Given the description of an element on the screen output the (x, y) to click on. 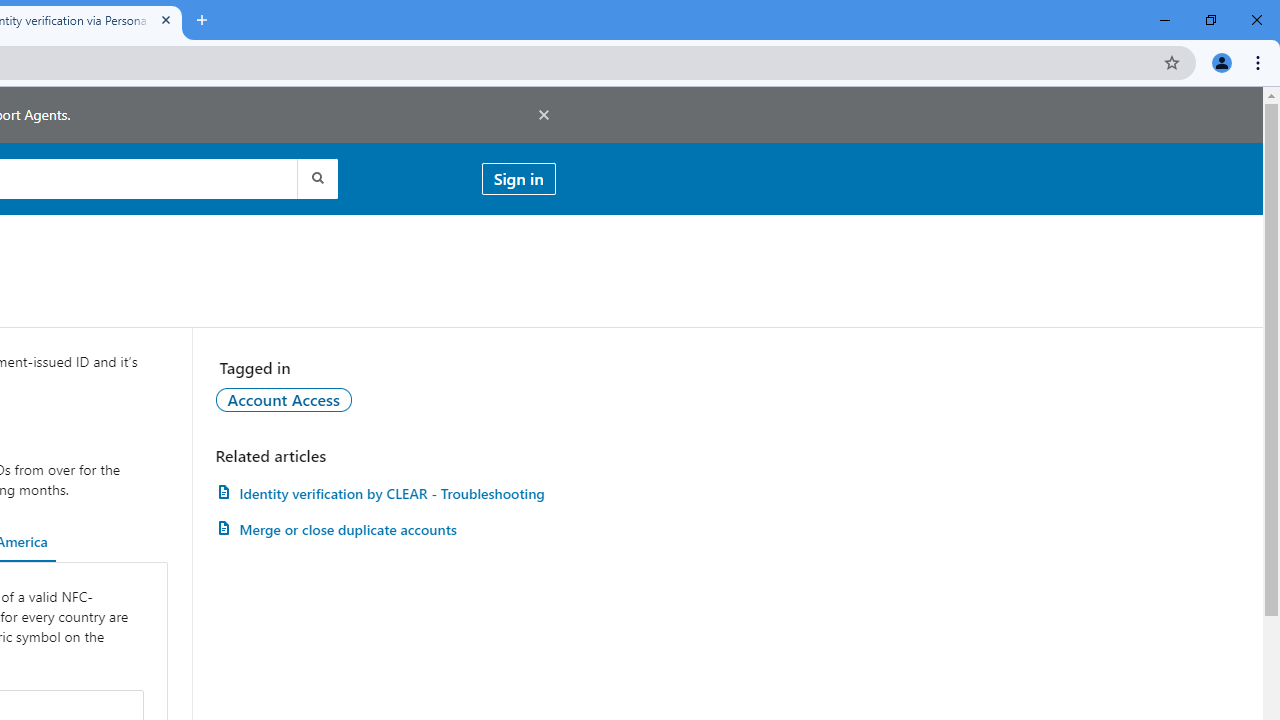
AutomationID: article-link-a1337200 (385, 529)
